Given the description of an element on the screen output the (x, y) to click on. 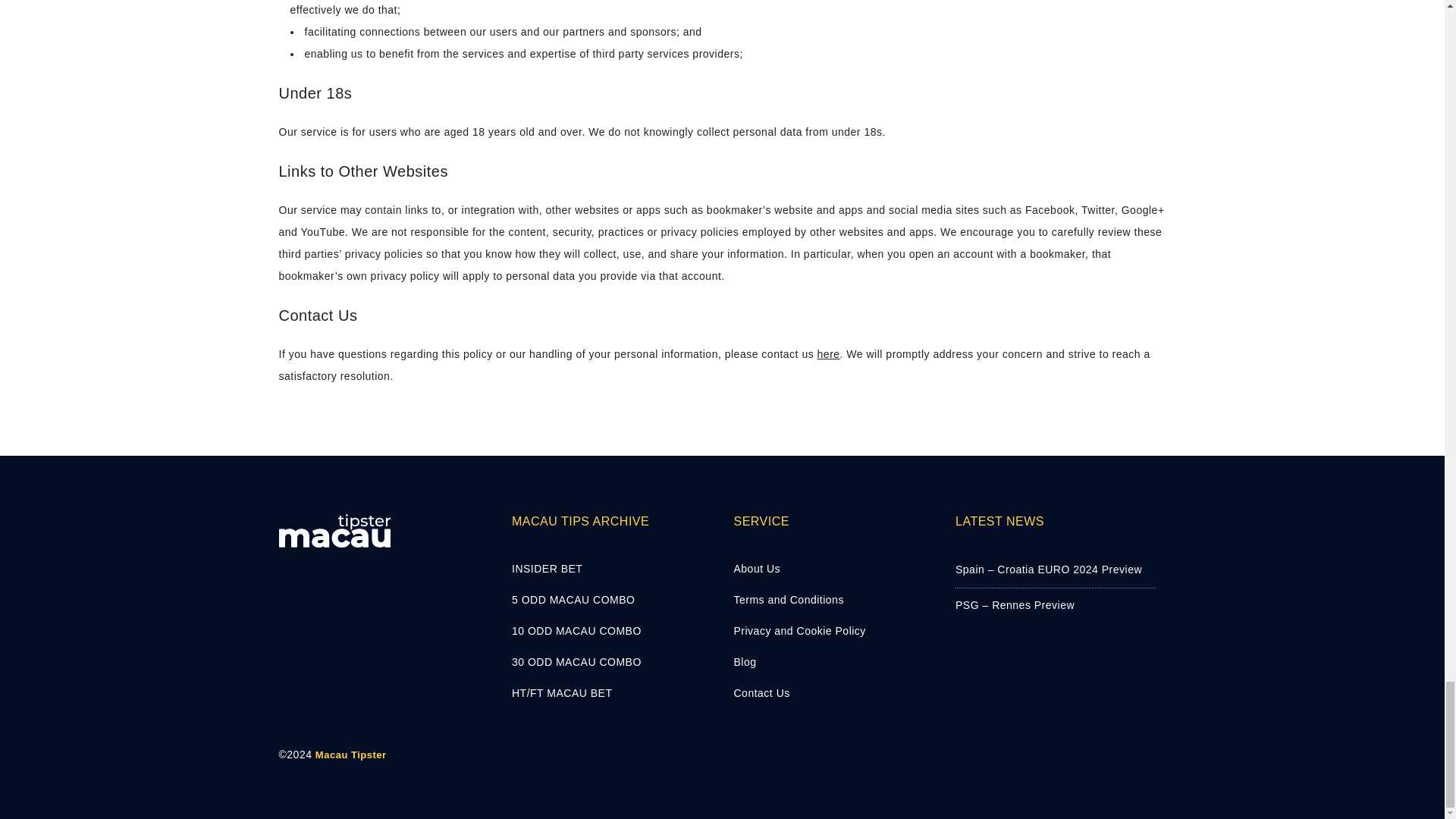
Terms and Conditions (833, 599)
Macau Tipster (351, 754)
5 ODD MACAU COMBO (611, 599)
INSIDER BET (611, 568)
10 ODD MACAU COMBO (611, 630)
Privacy and Cookie Policy (833, 630)
Contact Us (833, 693)
Blog (833, 662)
About Us (833, 568)
30 ODD MACAU COMBO (611, 662)
here (828, 354)
